Given the description of an element on the screen output the (x, y) to click on. 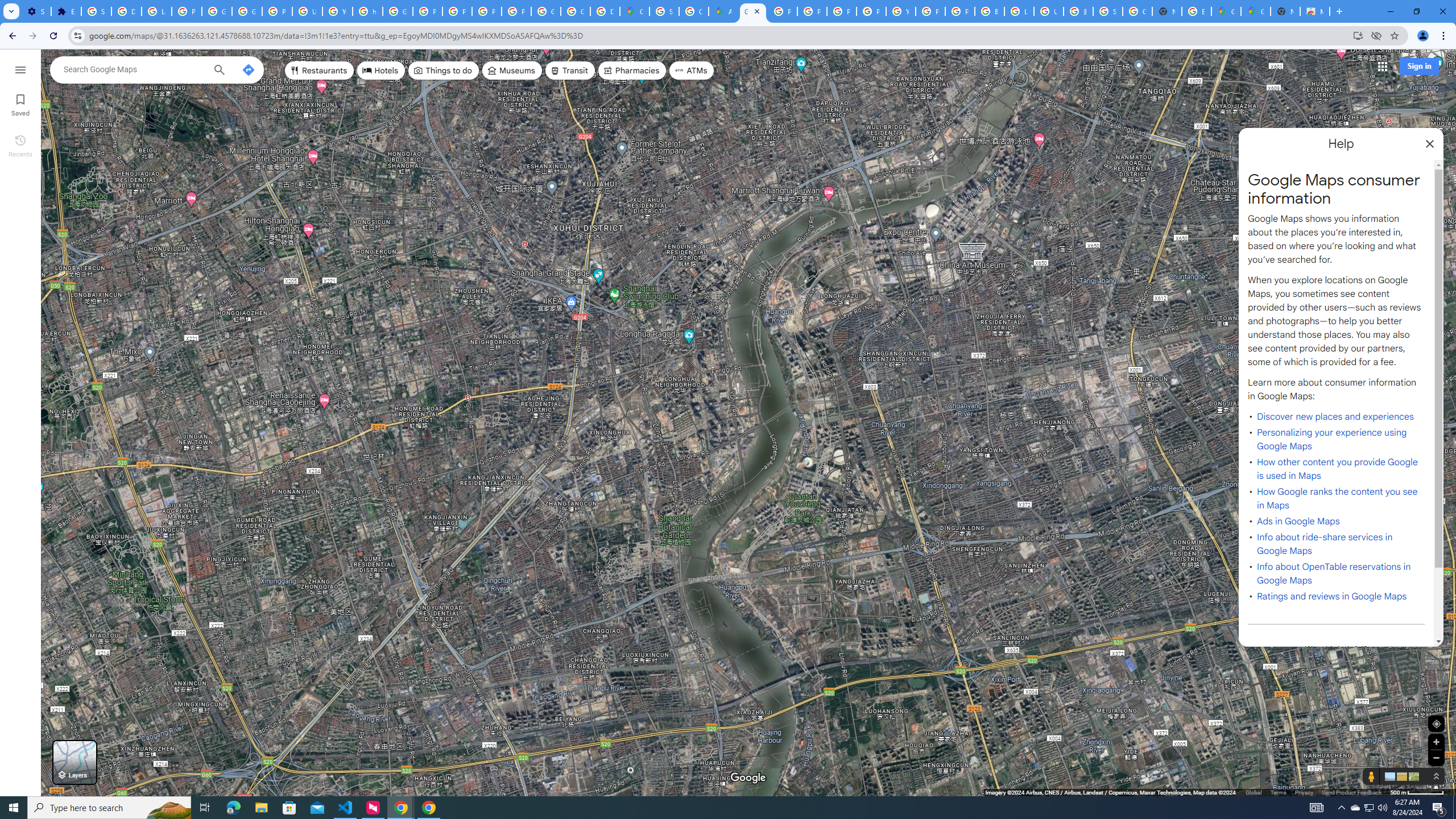
Discover new places and experiences (1334, 416)
Pharmacies (632, 70)
Ratings and reviews in Google Maps (1331, 596)
Info about ride-share services in Google Maps (1324, 543)
Things to do (443, 70)
Delete photos & videos - Computer - Google Photos Help (126, 11)
ATMs (691, 70)
Recents (20, 145)
